Given the description of an element on the screen output the (x, y) to click on. 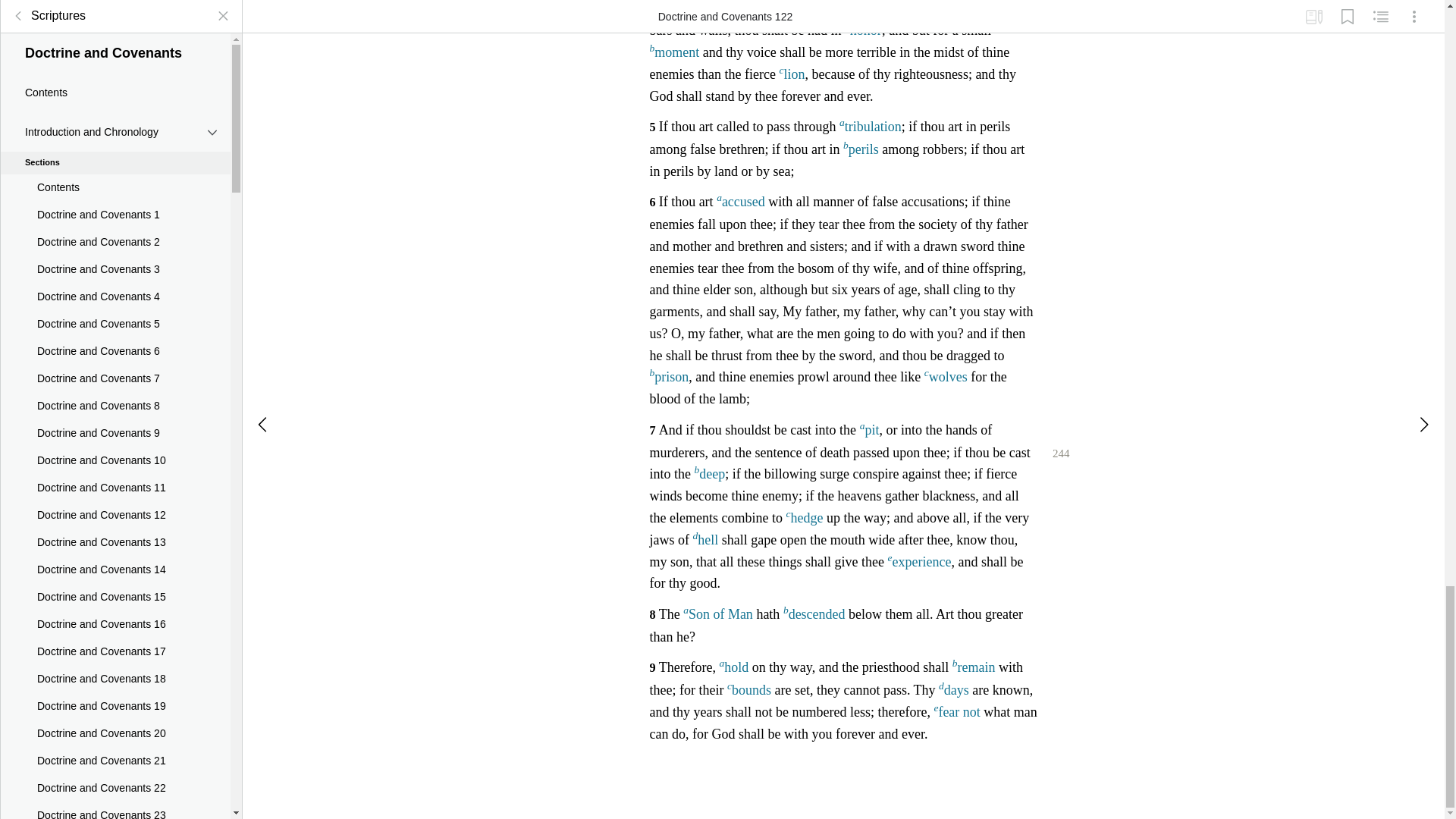
Doctrine and Covenants 31 (115, 578)
Doctrine and Covenants 24 (115, 388)
Doctrine and Covenants 20 (115, 278)
Doctrine and Covenants 34 (115, 660)
Doctrine and Covenants 32 (115, 605)
Doctrine and Covenants 17 (115, 196)
Doctrine and Covenants 28 (115, 497)
Doctrine and Covenants 14 (115, 114)
Doctrine and Covenants 18 (115, 224)
Doctrine and Covenants 10 (115, 9)
